Given the description of an element on the screen output the (x, y) to click on. 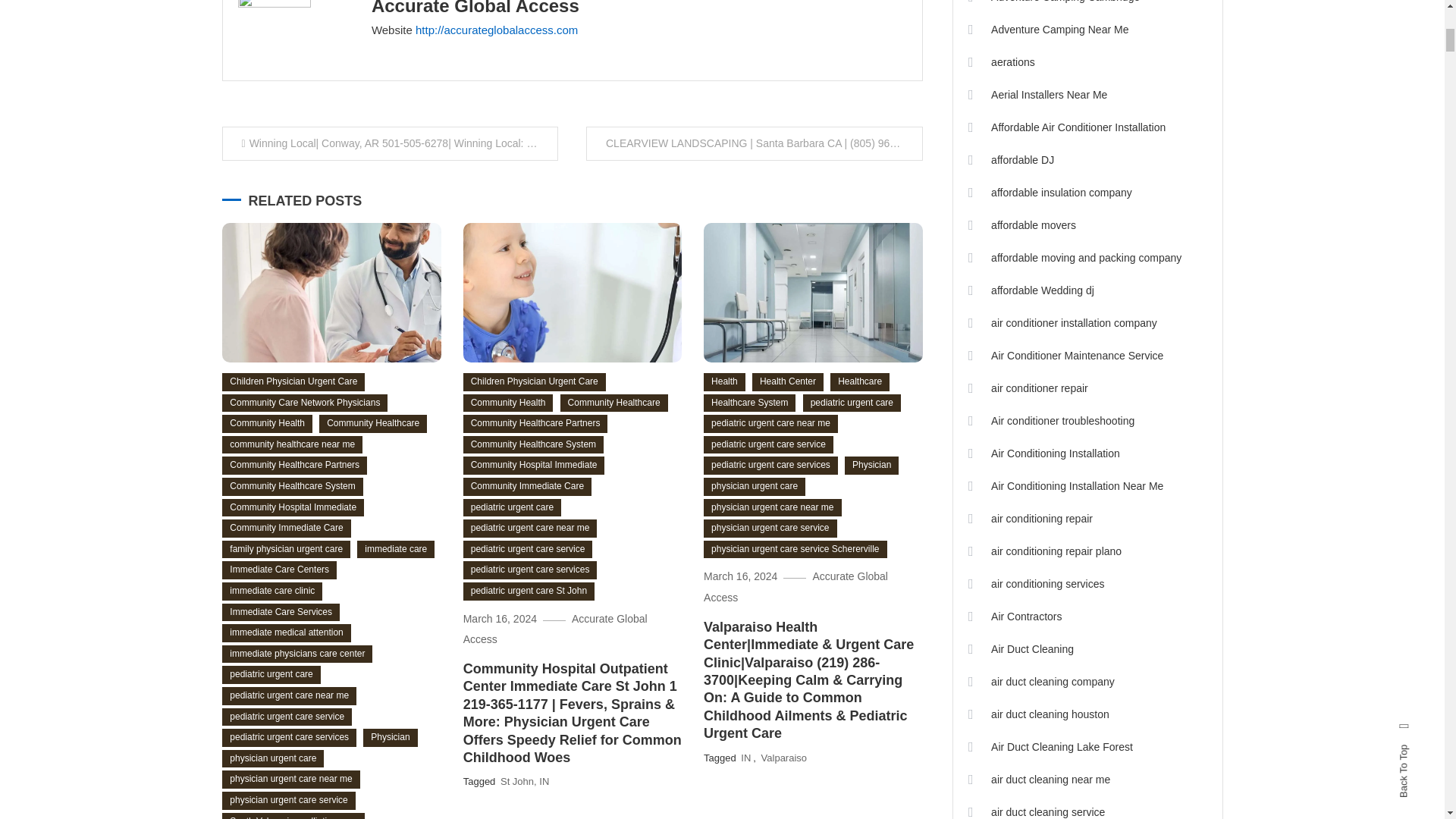
Posts by Accurate Global Access (475, 7)
